Given the description of an element on the screen output the (x, y) to click on. 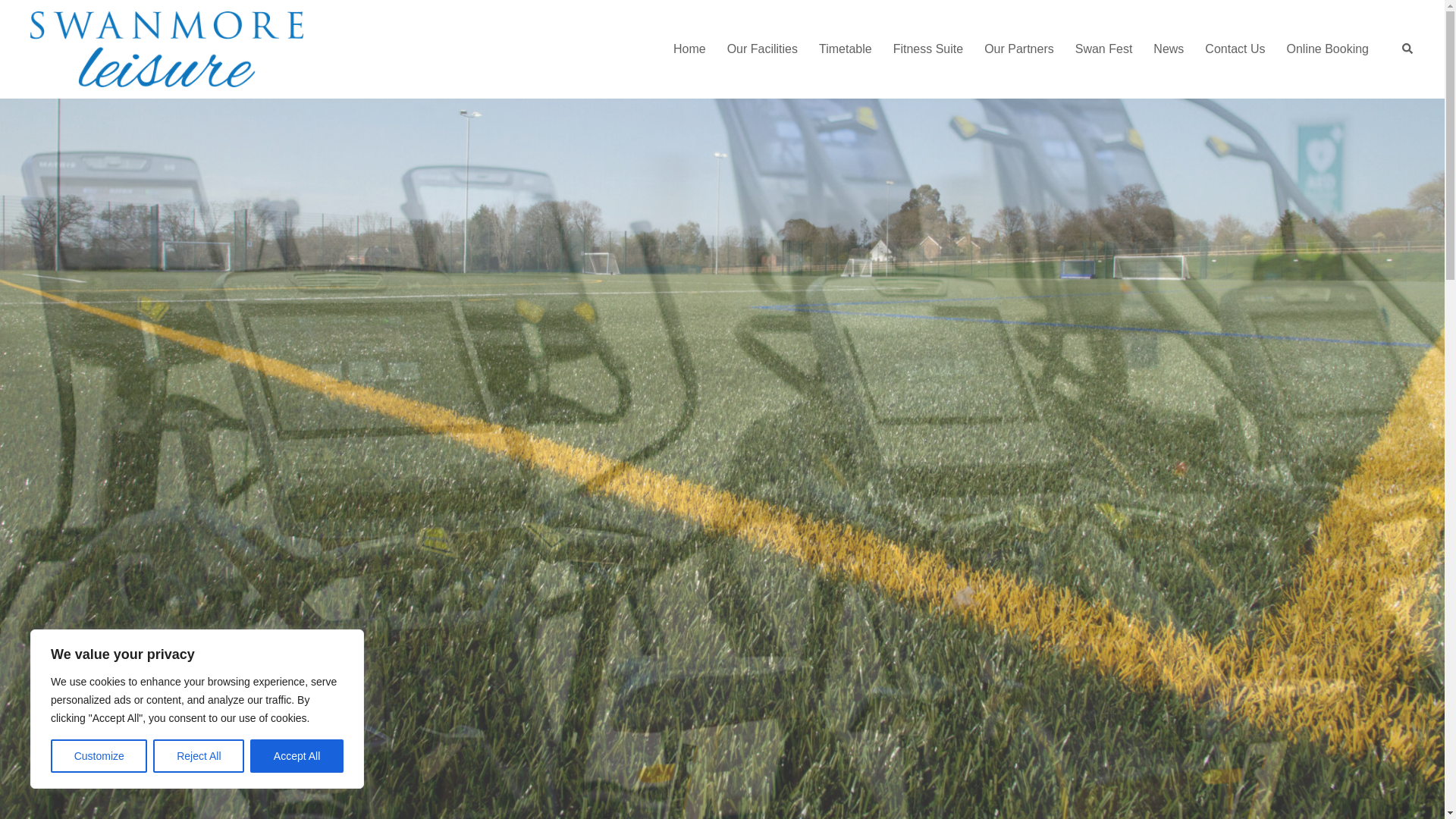
Our Facilities (761, 48)
News (1168, 48)
Timetable (845, 48)
Online Booking (1326, 48)
Customize (98, 756)
Swan Fest (1103, 48)
Home (689, 48)
Fitness Suite (927, 48)
Our Partners (1019, 48)
Swanmore Leisure (166, 47)
Reject All (198, 756)
Accept All (296, 756)
Contact Us (1235, 48)
